Given the description of an element on the screen output the (x, y) to click on. 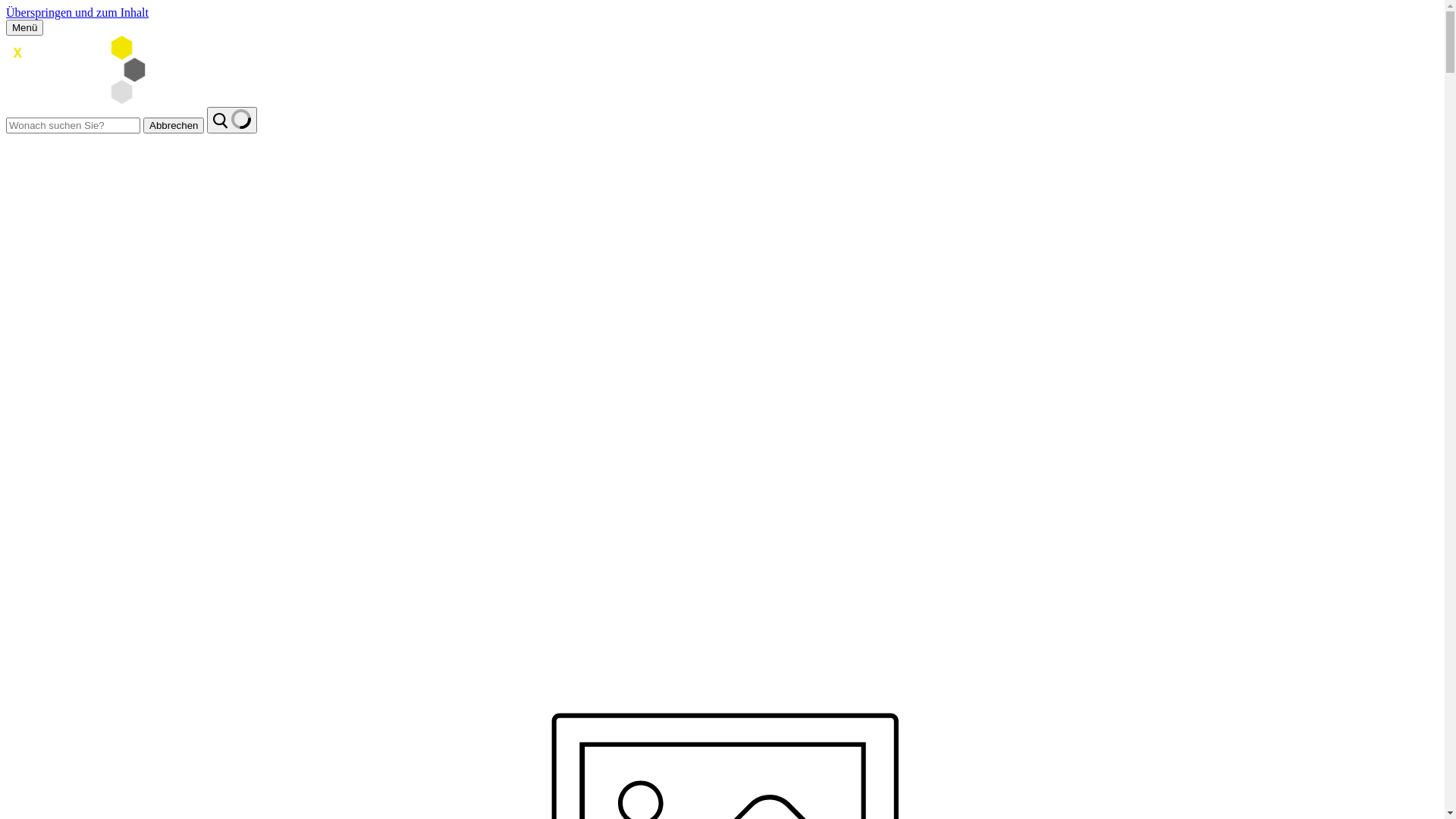
Abbrechen Element type: text (173, 125)
